Given the description of an element on the screen output the (x, y) to click on. 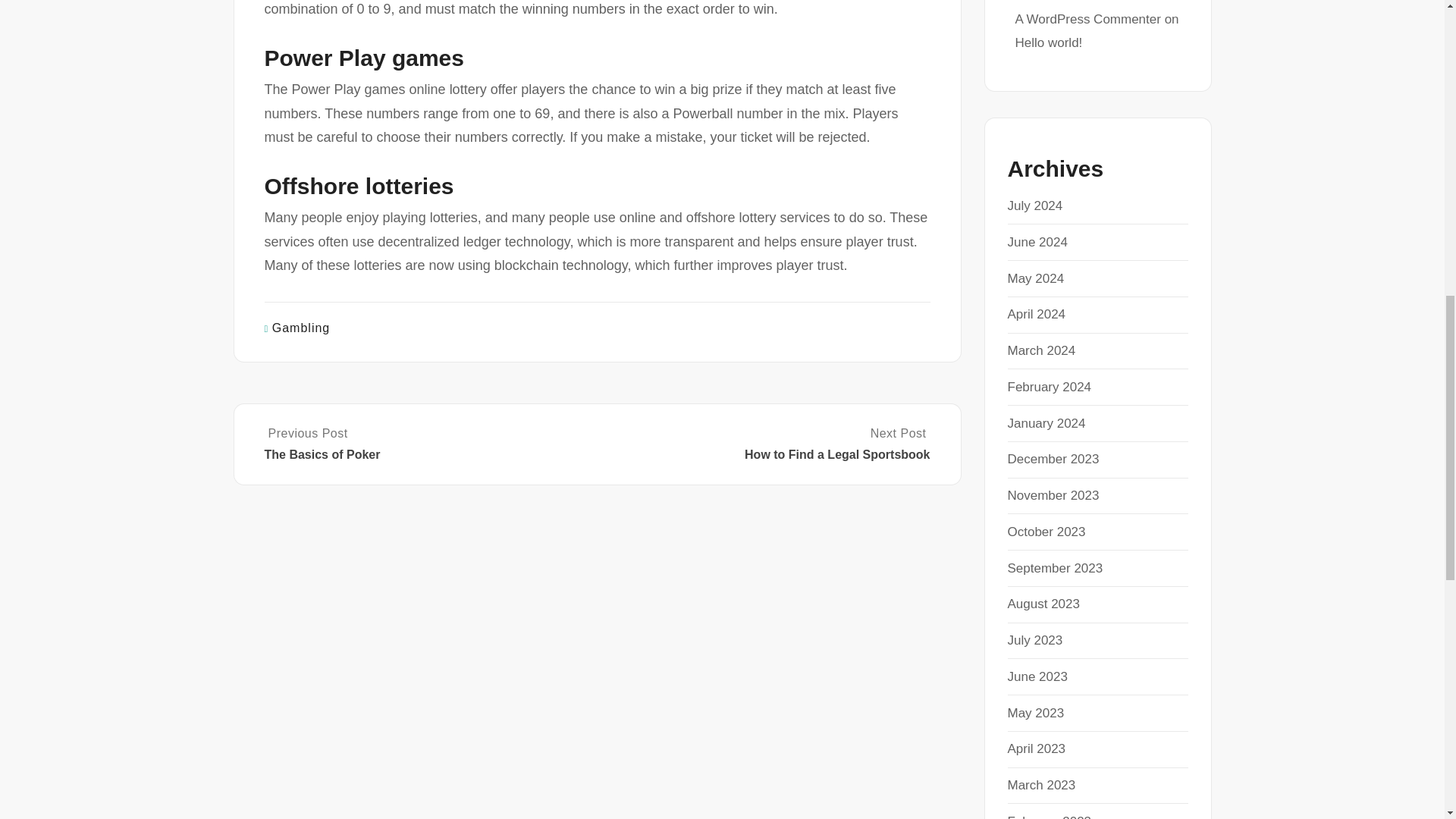
May 2023 (1035, 712)
Gambling (301, 327)
March 2023 (1041, 785)
A WordPress Commenter (1087, 19)
July 2024 (1034, 205)
January 2024 (1045, 423)
May 2024 (1035, 278)
April 2024 (1036, 314)
November 2023 (1053, 495)
July 2023 (1034, 640)
Hello world! (1047, 42)
December 2023 (1053, 459)
April 2023 (1036, 748)
February 2024 (1048, 386)
